Given the description of an element on the screen output the (x, y) to click on. 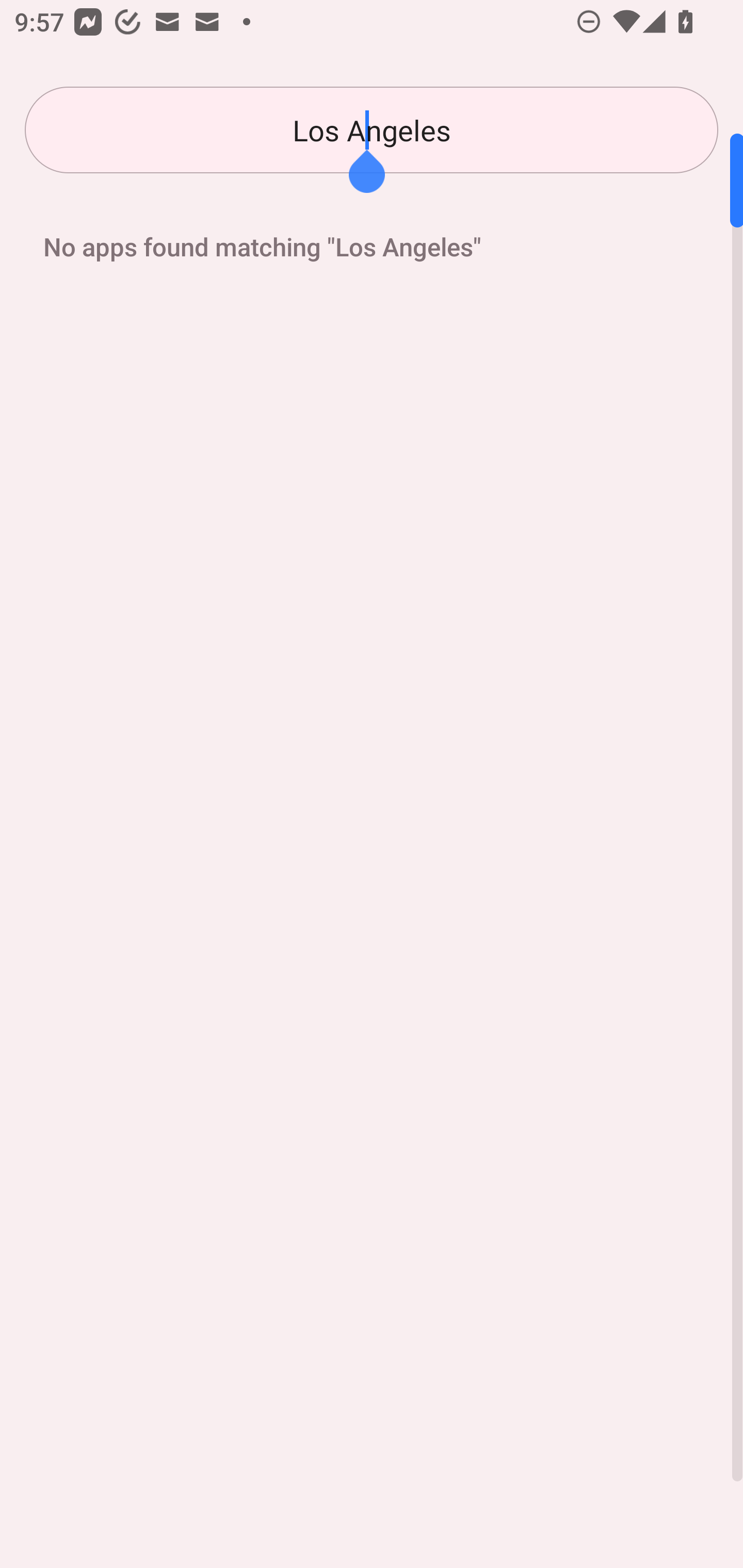
Los Angeles (371, 130)
